Given the description of an element on the screen output the (x, y) to click on. 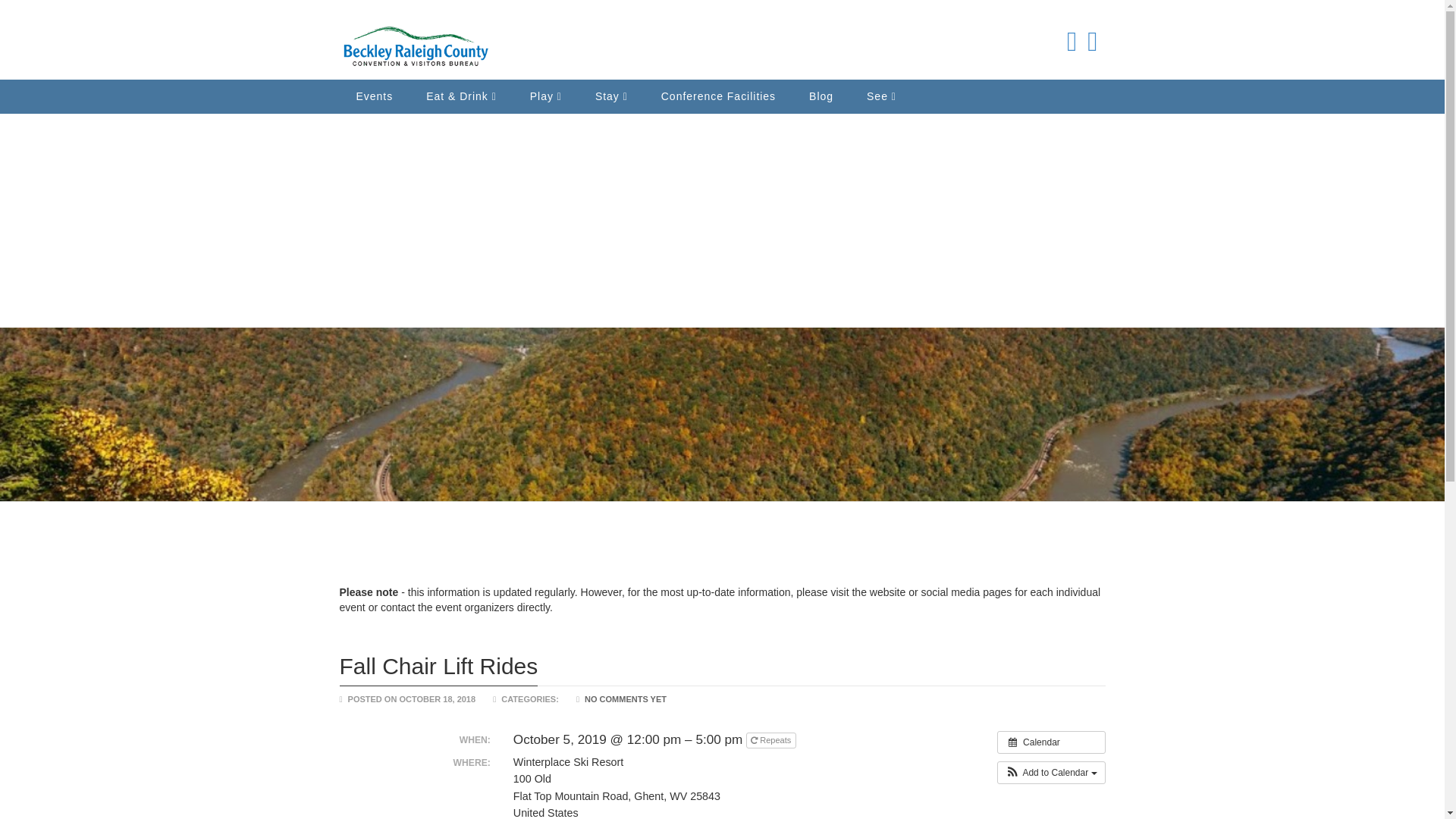
Calendar (1051, 742)
Repeats (770, 740)
See (876, 96)
NO COMMENTS YET (625, 698)
Stay (611, 96)
View all events (1051, 742)
Conference Facilities (718, 96)
Events (375, 96)
Play (545, 96)
Raleigh County Events (415, 42)
Blog (821, 96)
